Given the description of an element on the screen output the (x, y) to click on. 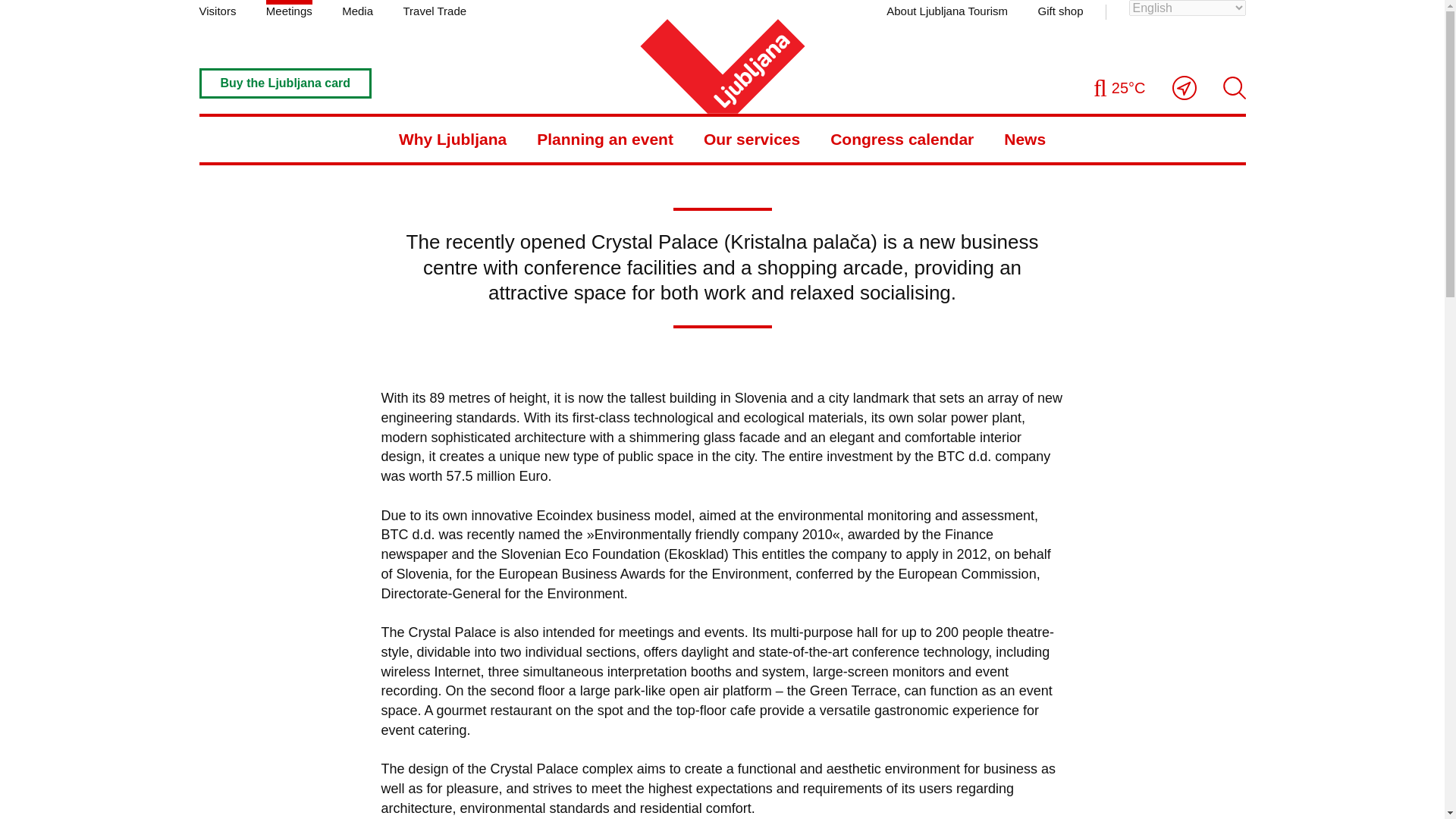
Meetings (289, 9)
Visitors (216, 9)
Meetings (221, 21)
News (1024, 139)
Why Ljubljana (452, 139)
Gift shop (1059, 9)
Close to me (1184, 87)
News (272, 21)
Our services (751, 139)
Media (357, 9)
